Given the description of an element on the screen output the (x, y) to click on. 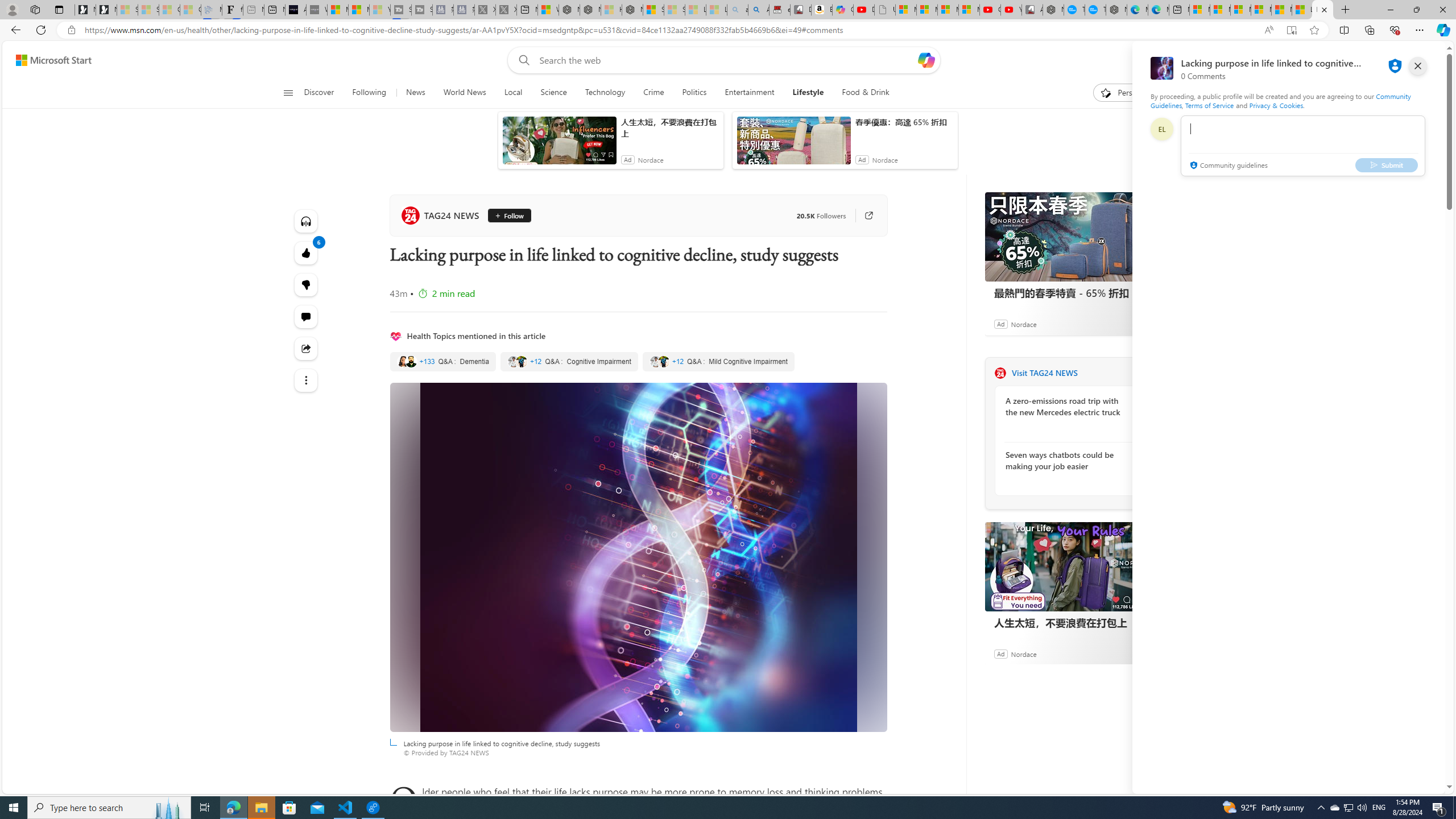
Privacy & Cookies (1276, 104)
Community Guidelines (1280, 100)
comment-box (1302, 145)
Crime (653, 92)
Community guidelines (1228, 165)
